Given the description of an element on the screen output the (x, y) to click on. 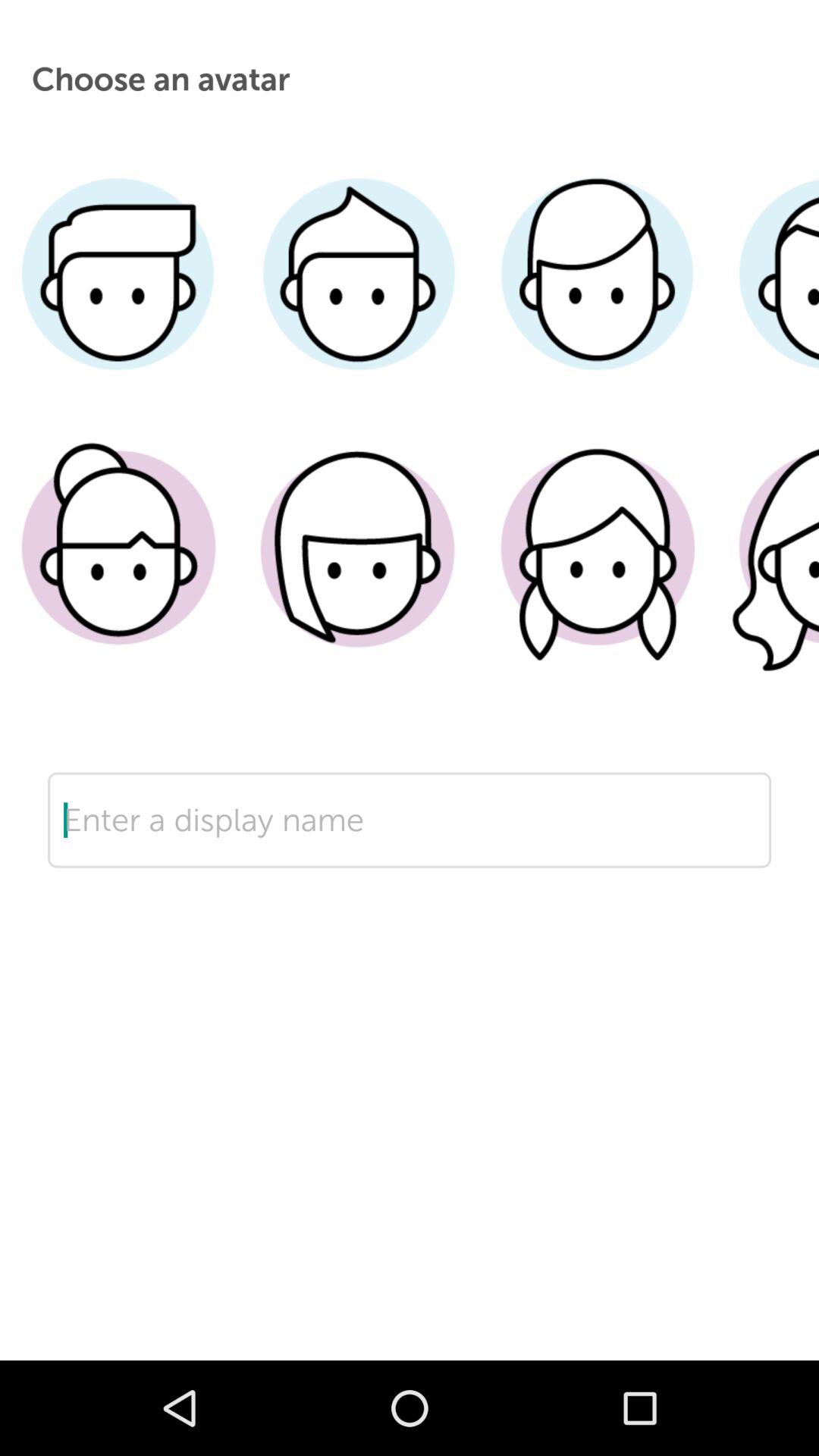
choose fourth female avatar (767, 570)
